Given the description of an element on the screen output the (x, y) to click on. 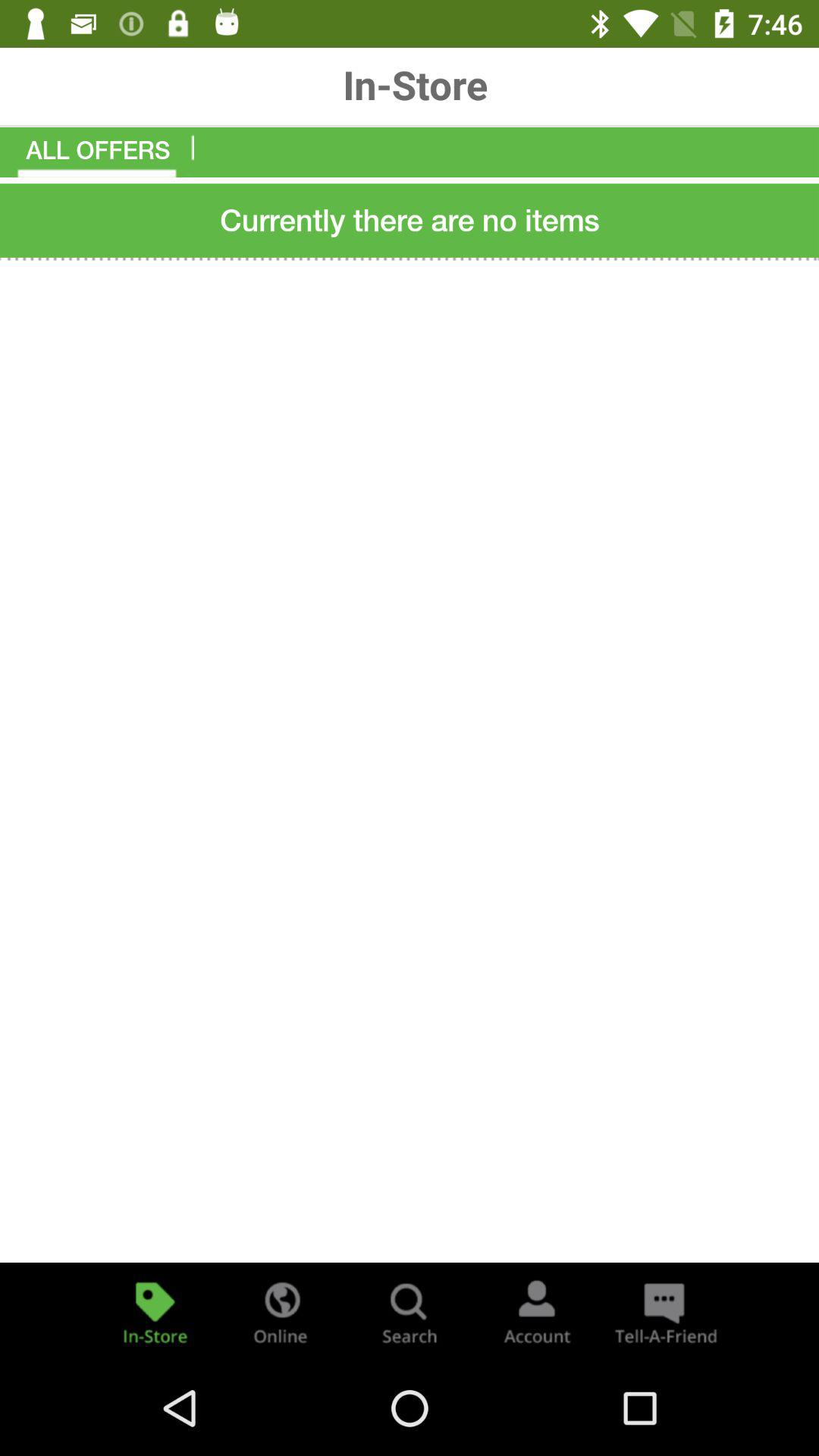
view in-store offers (154, 1311)
